Given the description of an element on the screen output the (x, y) to click on. 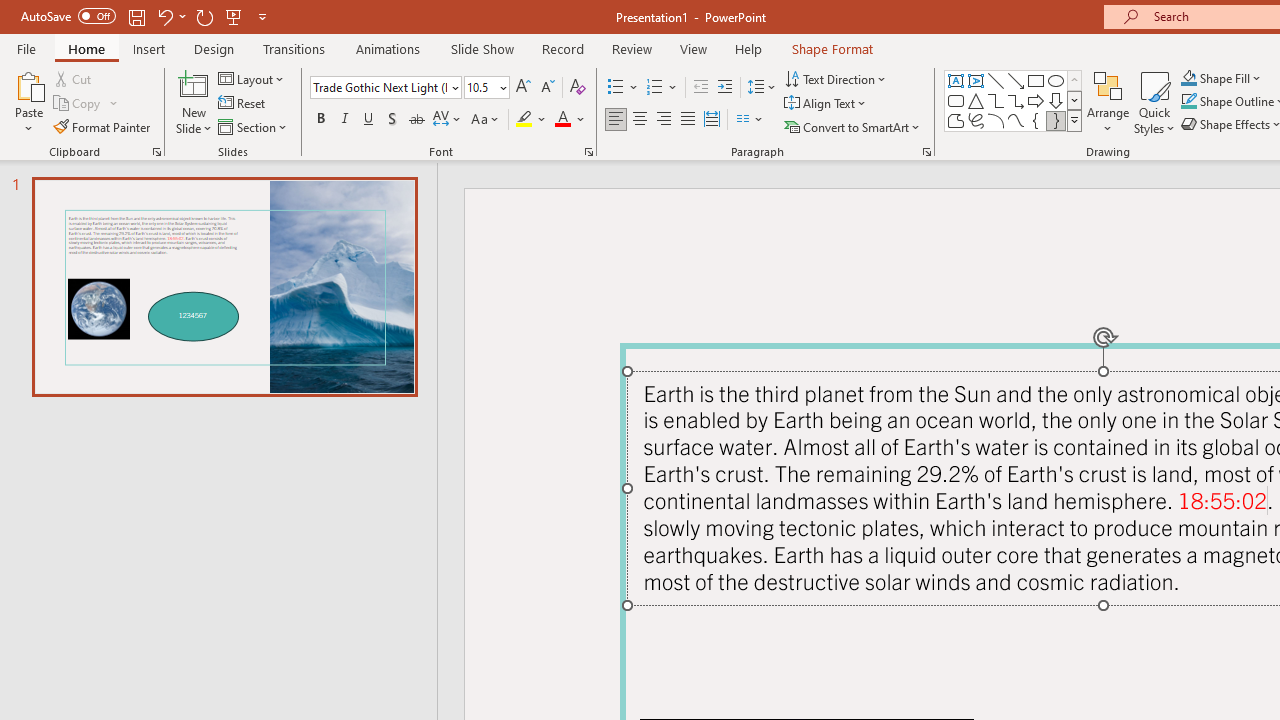
Shape Fill Aqua, Accent 2 (1188, 78)
